Given the description of an element on the screen output the (x, y) to click on. 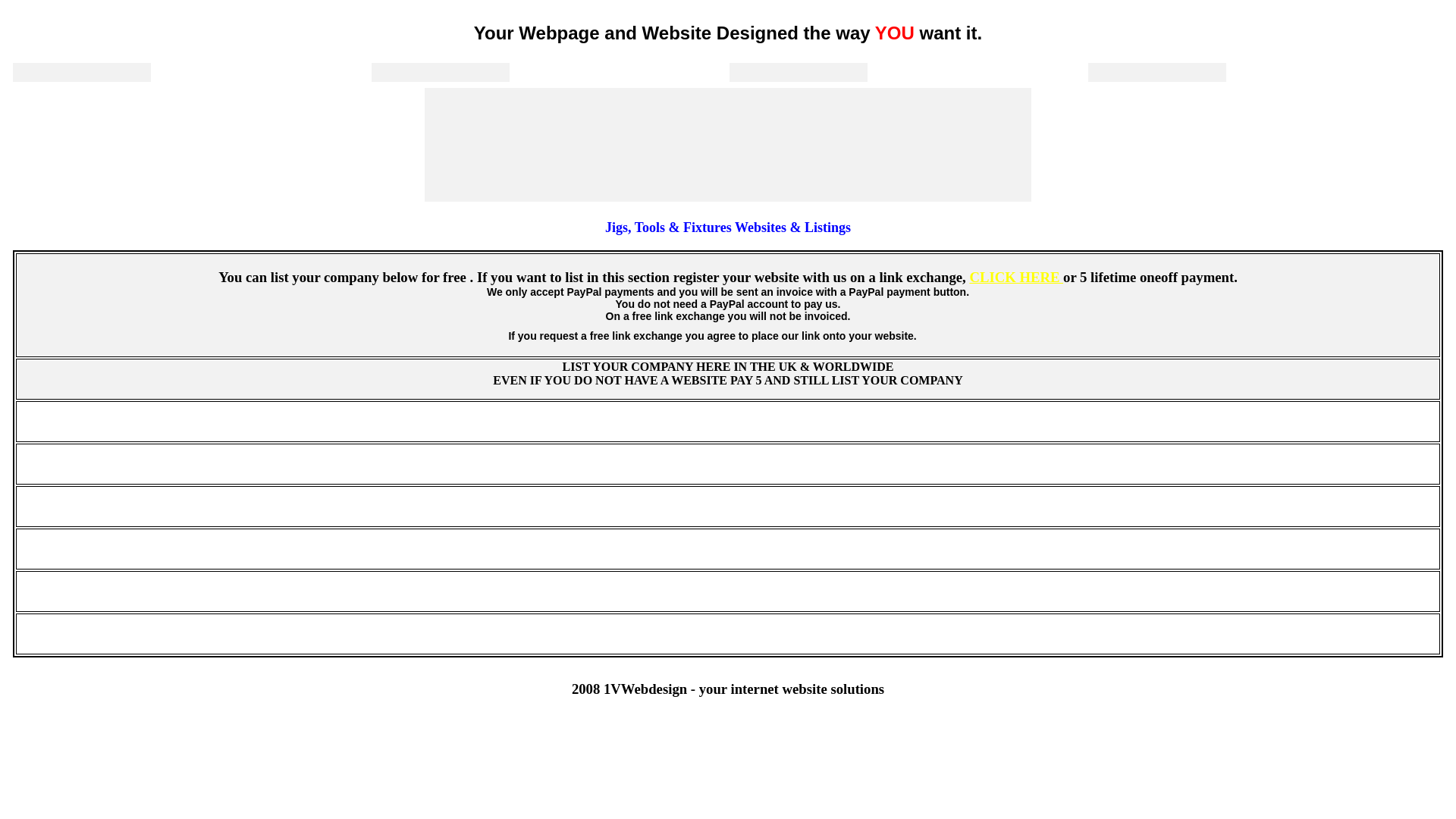
CLICK HERE Element type: text (1016, 277)
